Given the description of an element on the screen output the (x, y) to click on. 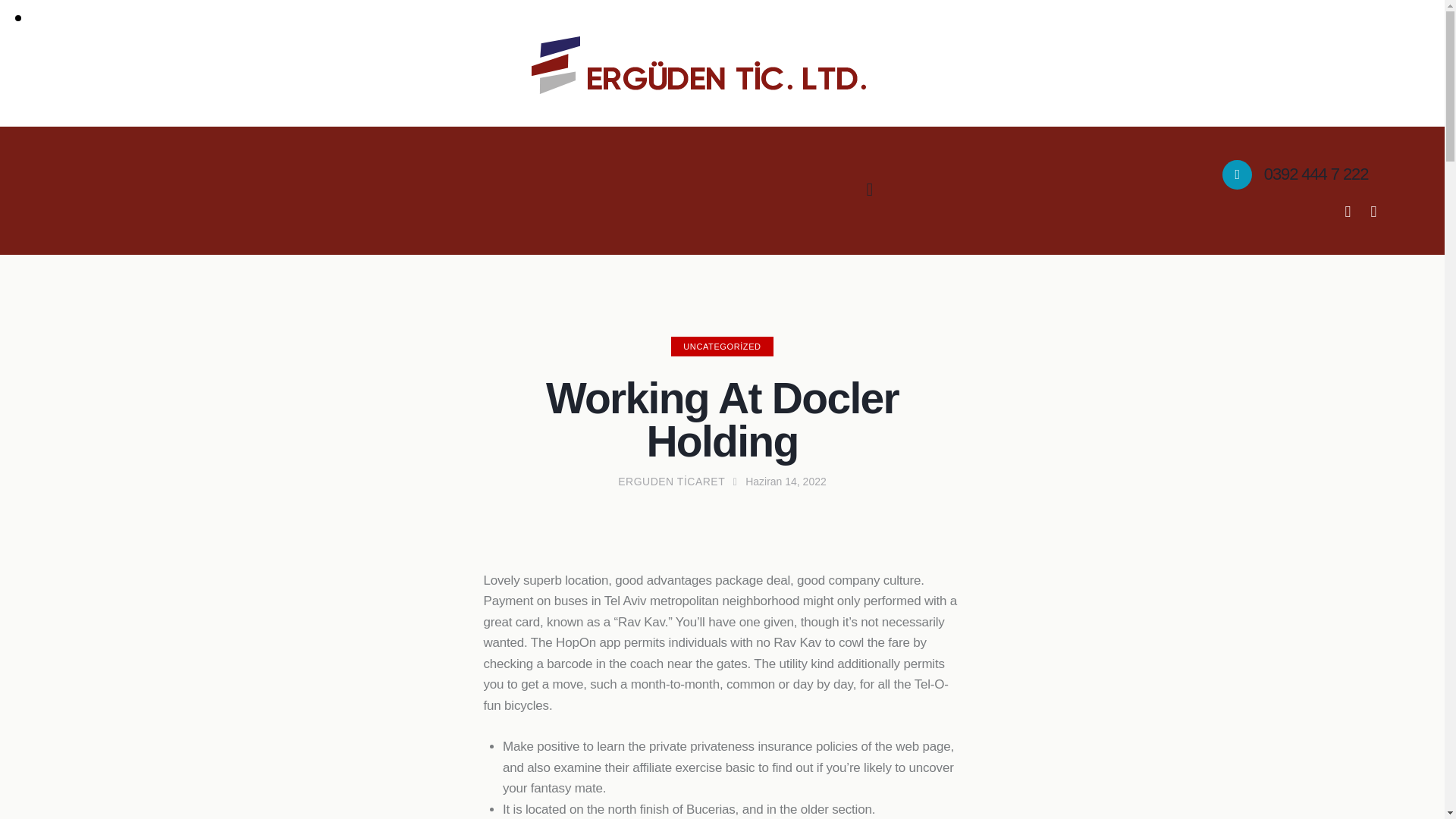
0392 444 7 222 (1295, 174)
